Given the description of an element on the screen output the (x, y) to click on. 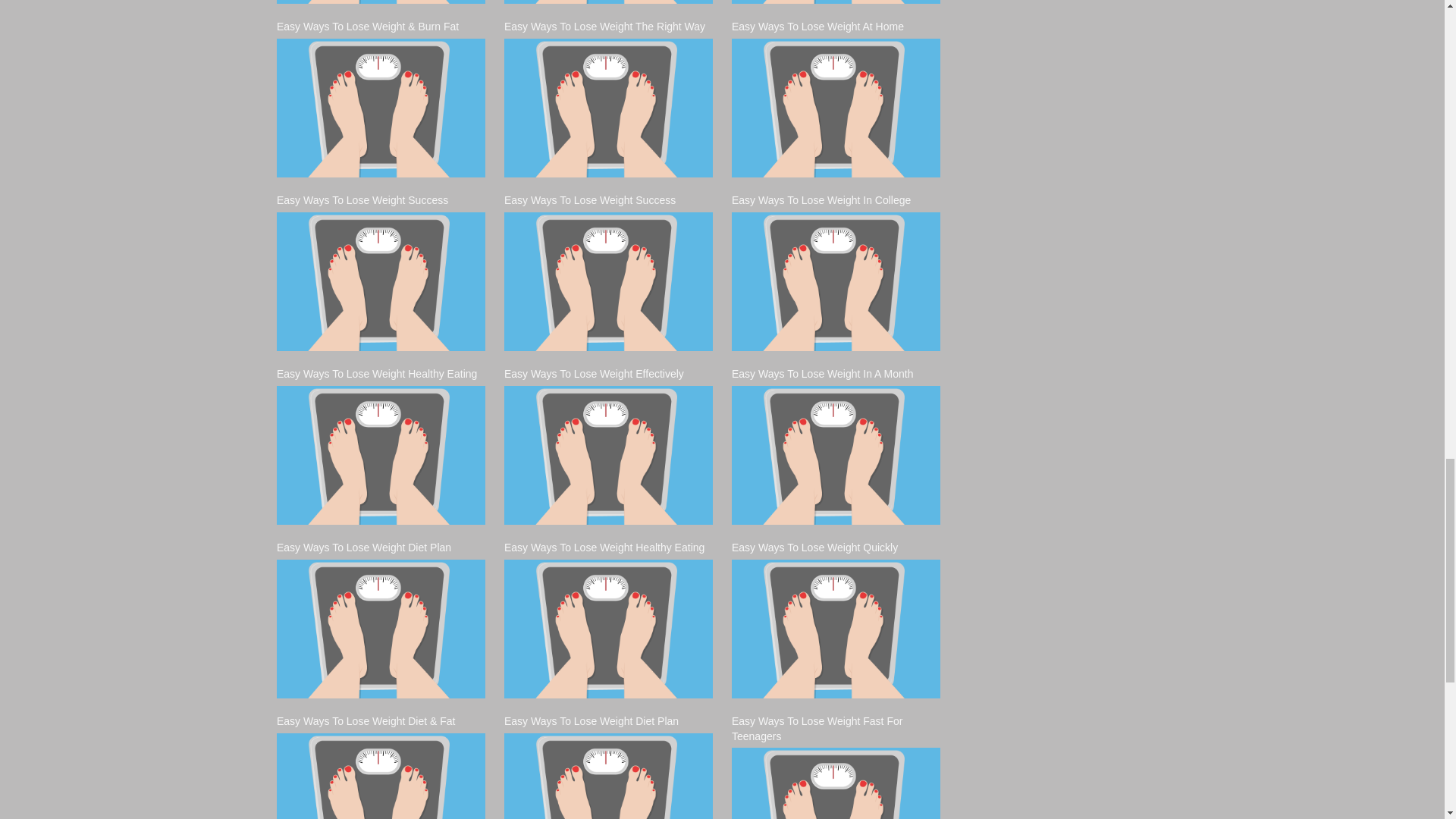
Easy Ways To Lose Weight Success (380, 281)
Easy Ways To Lose Weight Healthy Eating (380, 454)
Easy Ways To Lose Weight Information (380, 2)
